Given the description of an element on the screen output the (x, y) to click on. 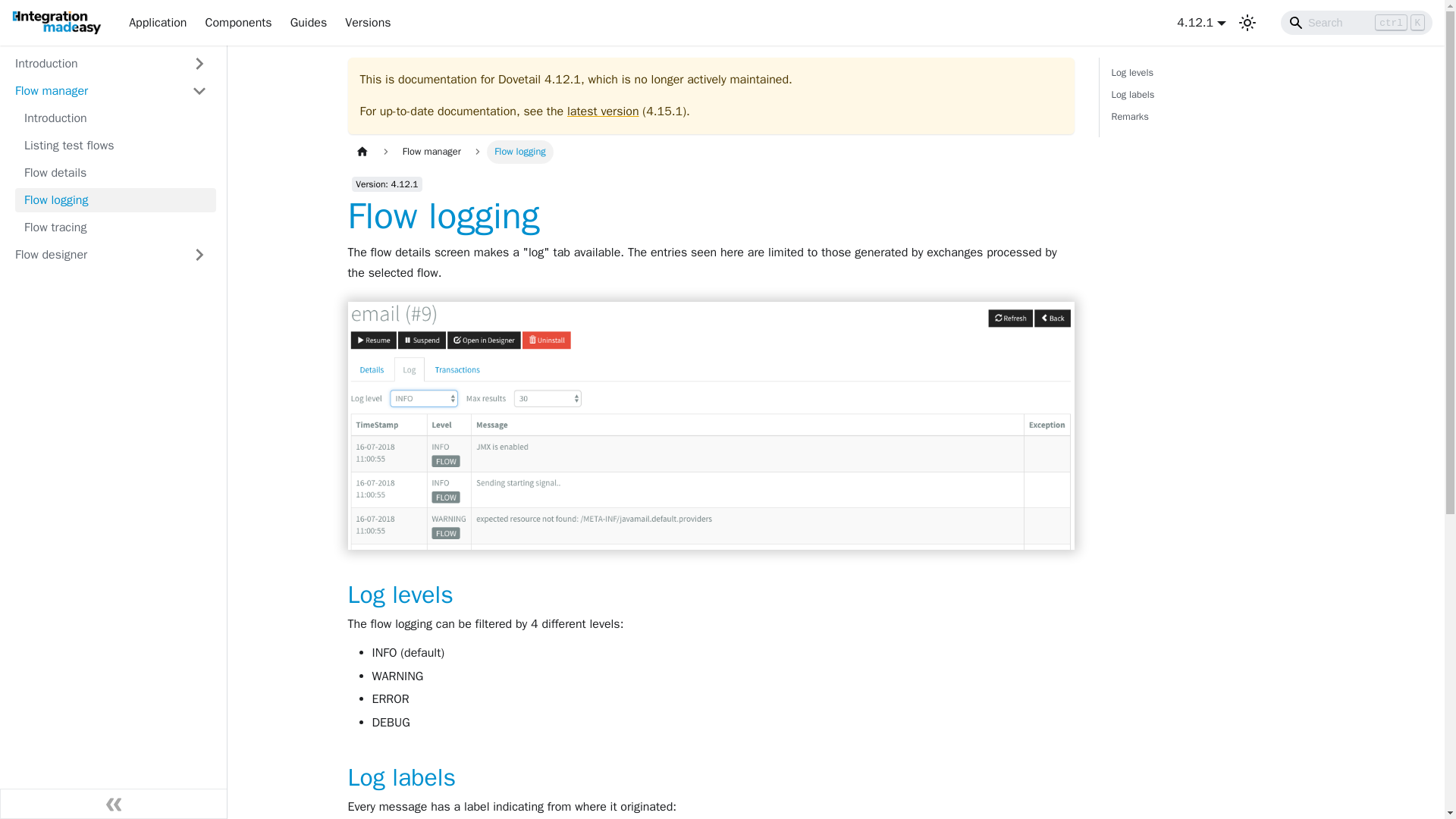
Introduction (114, 118)
4.12.1 (1200, 22)
Flow manager (110, 90)
Components (238, 22)
Collapse sidebar (1210, 97)
Flow designer (113, 803)
Flow details (110, 254)
Flow tracing (114, 172)
latest version (114, 227)
